Given the description of an element on the screen output the (x, y) to click on. 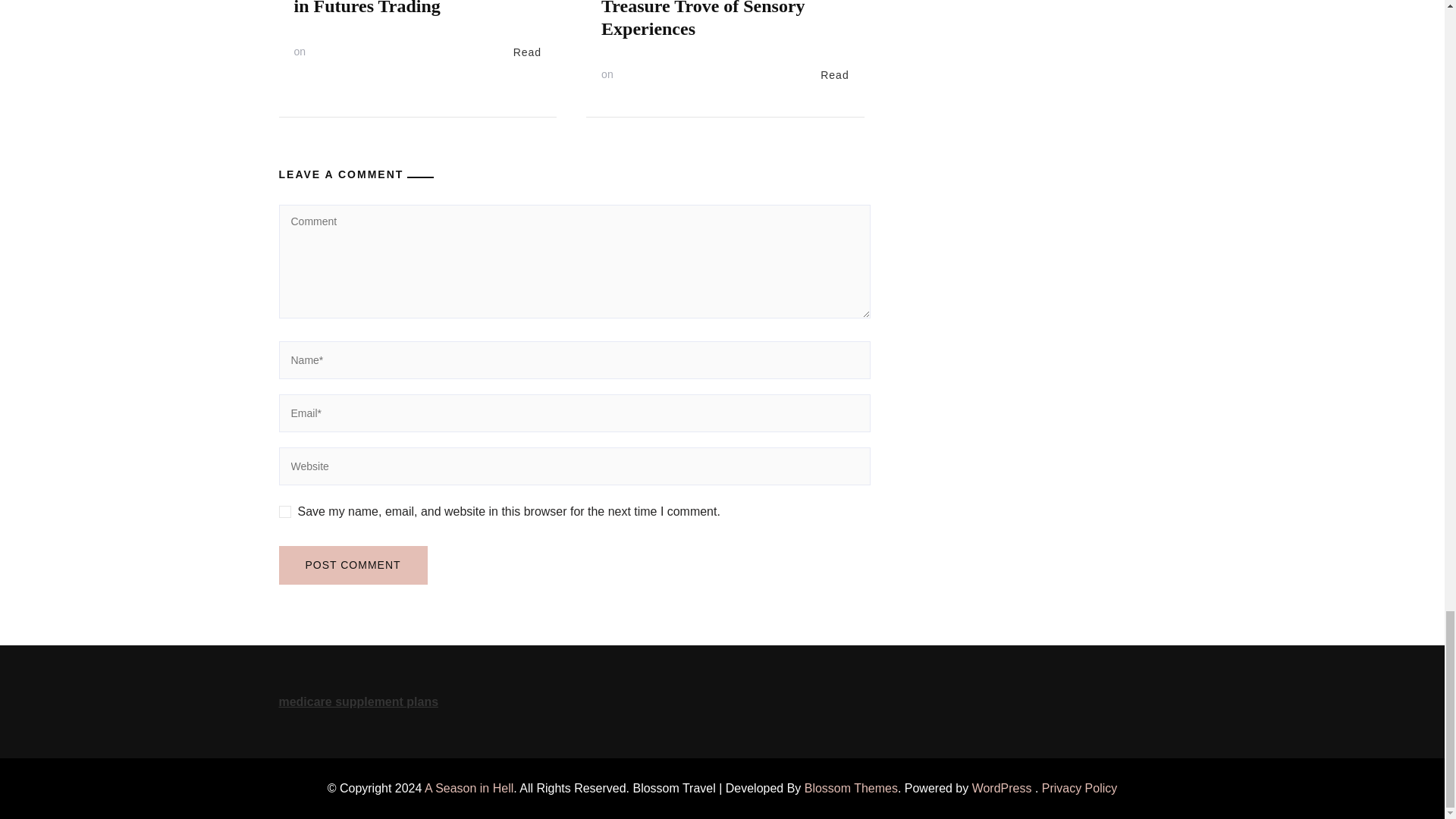
Post Comment (353, 565)
